Given the description of an element on the screen output the (x, y) to click on. 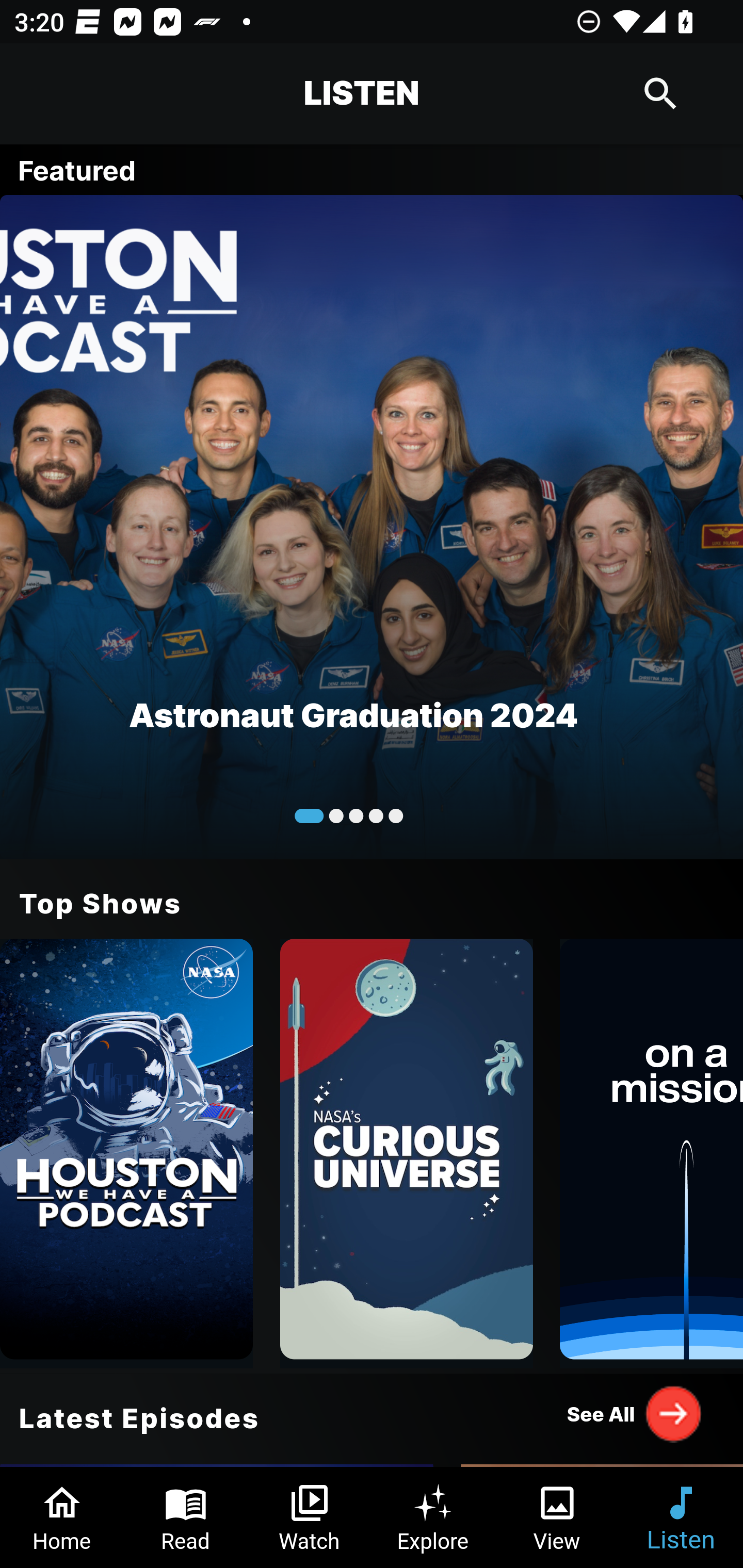
Astronaut Graduation 2024 (371, 526)
See All (634, 1413)
Home
Tab 1 of 6 (62, 1517)
Read
Tab 2 of 6 (185, 1517)
Watch
Tab 3 of 6 (309, 1517)
Explore
Tab 4 of 6 (433, 1517)
View
Tab 5 of 6 (556, 1517)
Listen
Tab 6 of 6 (680, 1517)
